Given the description of an element on the screen output the (x, y) to click on. 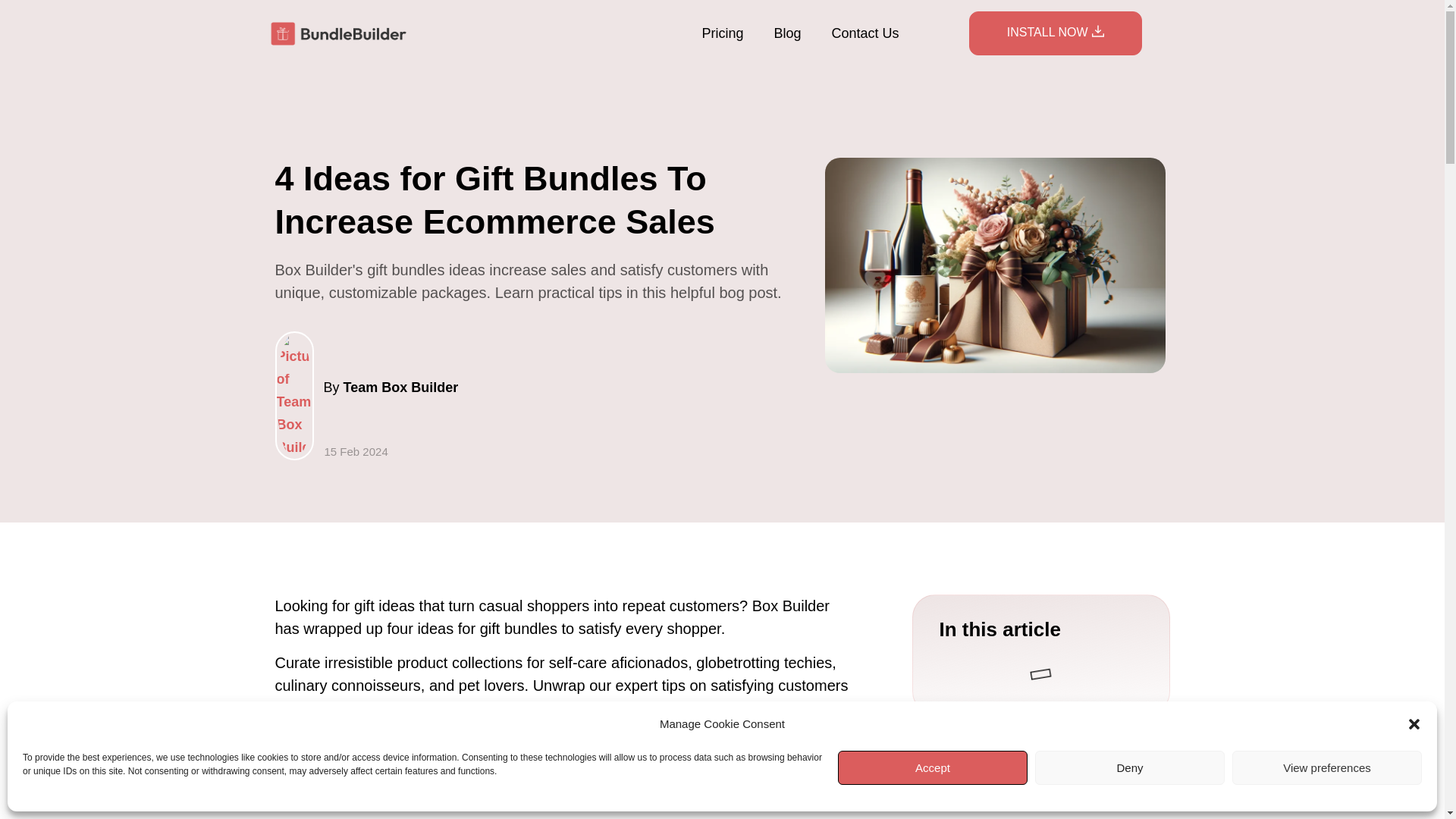
Contact Us (864, 33)
increasing ecommerce sales (409, 708)
INSTALL BOX BUILDER NOW (1040, 754)
INSTALL NOW (1055, 32)
Pricing (721, 33)
By Team Box Builder (366, 395)
Blog (786, 33)
Deny (1129, 767)
Accept (932, 767)
View preferences (1326, 767)
